Given the description of an element on the screen output the (x, y) to click on. 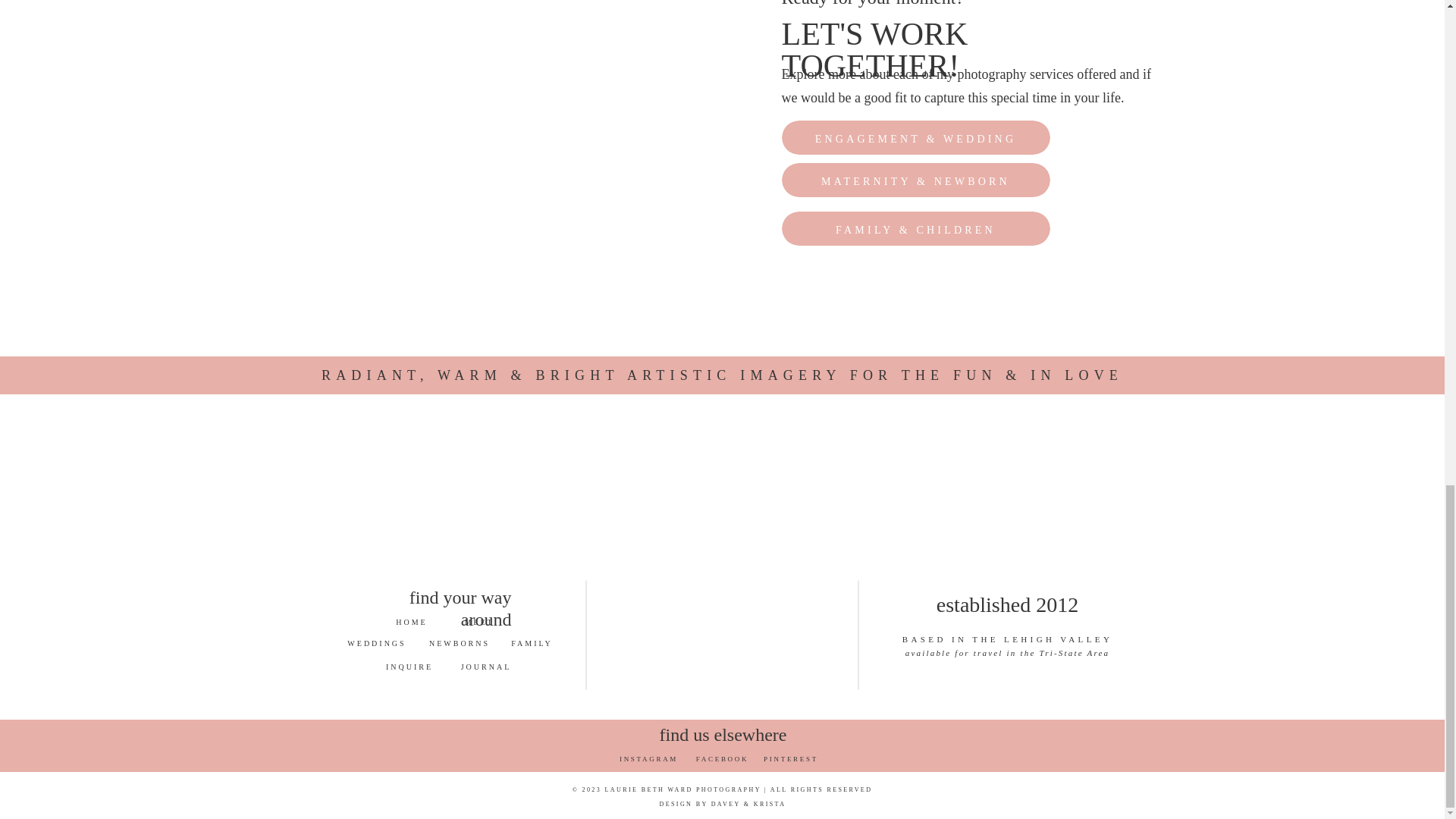
WEDDINGS (376, 643)
INSTAGRAM (648, 759)
INQUIRE (409, 666)
JOURNAL (486, 666)
FAMILY (531, 643)
MEET (478, 621)
NEWBORNS (460, 643)
FACEBOOK (722, 759)
HOME (410, 621)
